Given the description of an element on the screen output the (x, y) to click on. 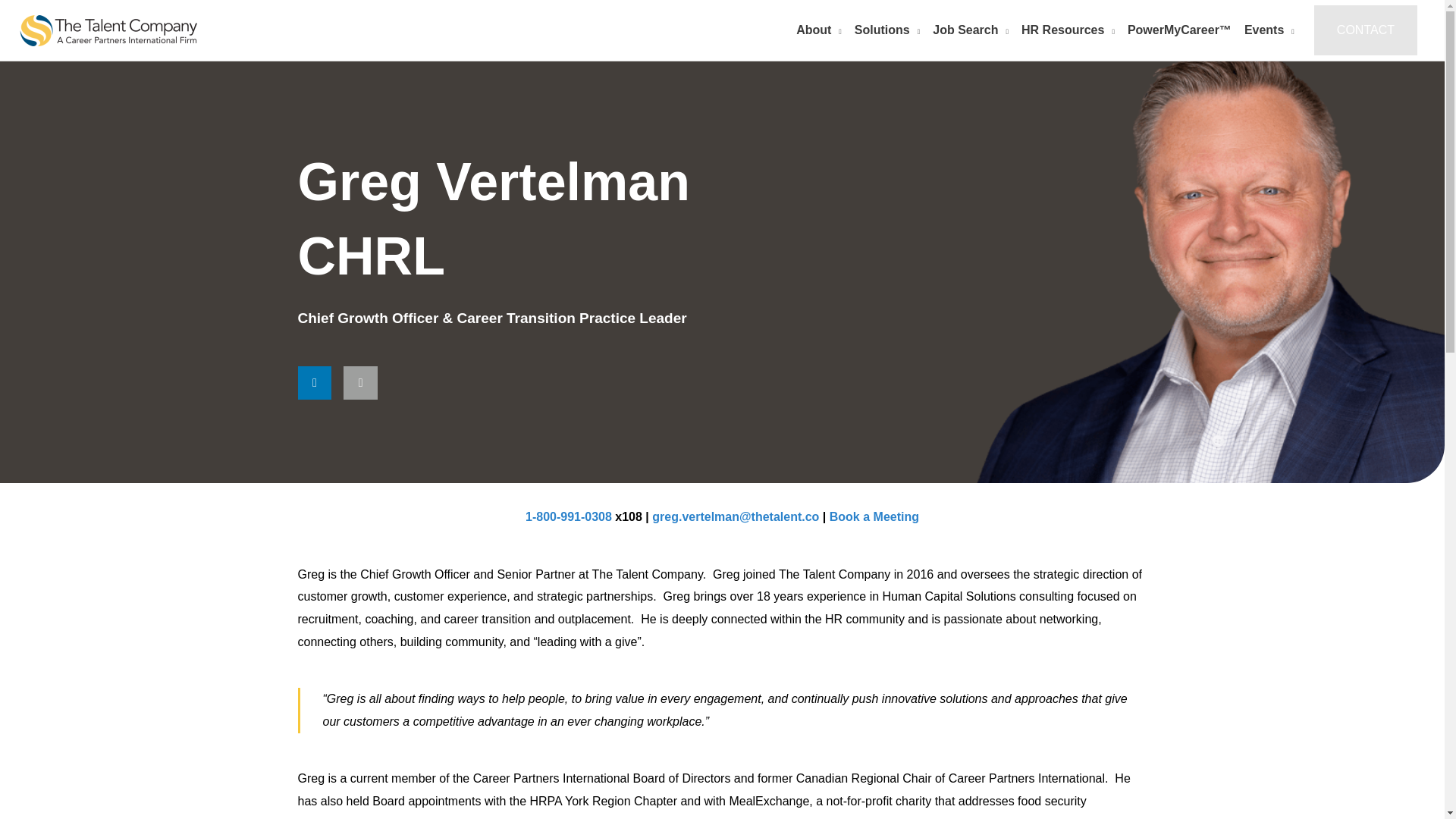
Chat Widget (1406, 782)
Solutions (887, 30)
HR Resources (1069, 30)
About (819, 30)
Job Search (971, 30)
